Given the description of an element on the screen output the (x, y) to click on. 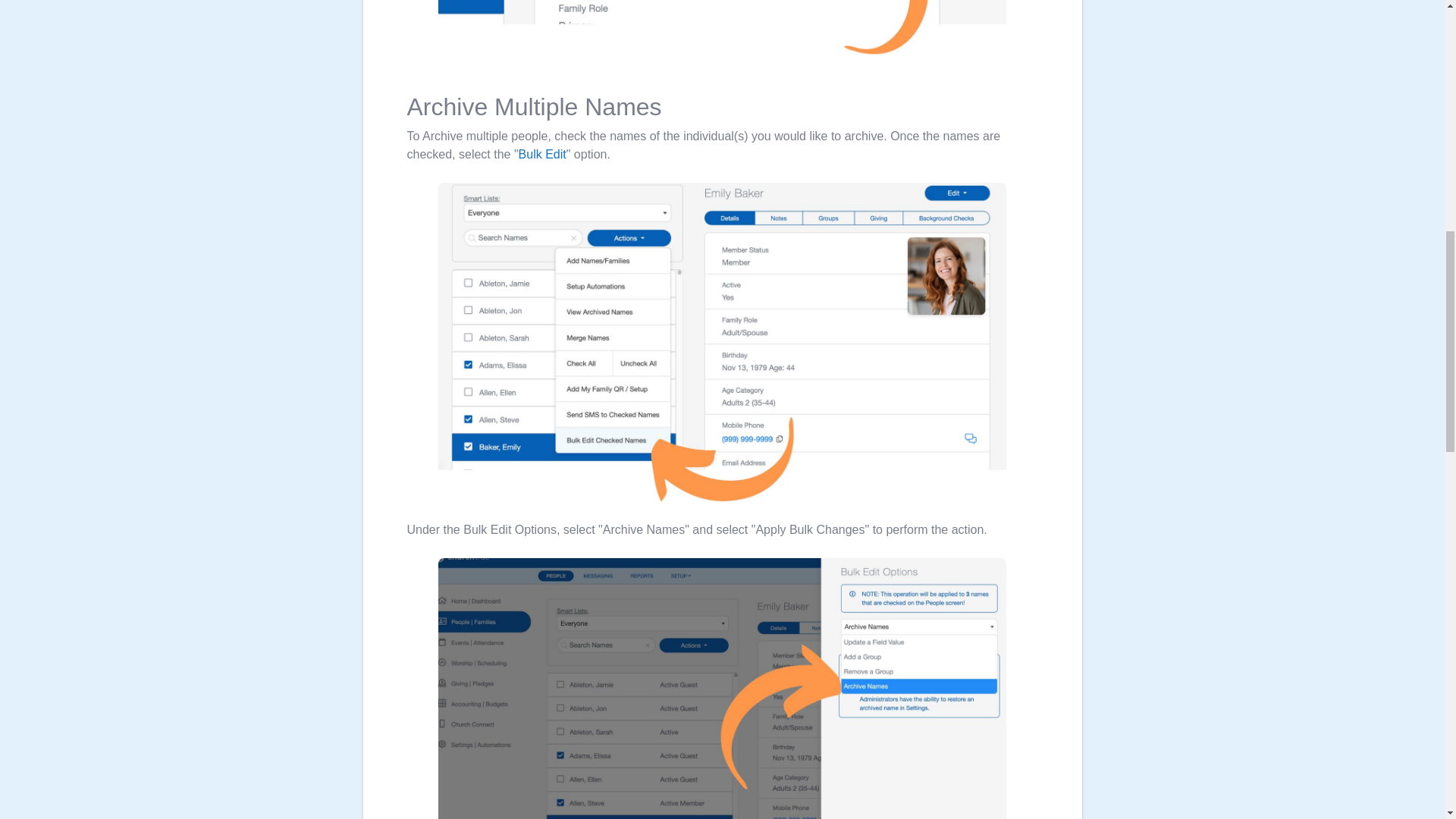
Bulk Edit (542, 154)
